Given the description of an element on the screen output the (x, y) to click on. 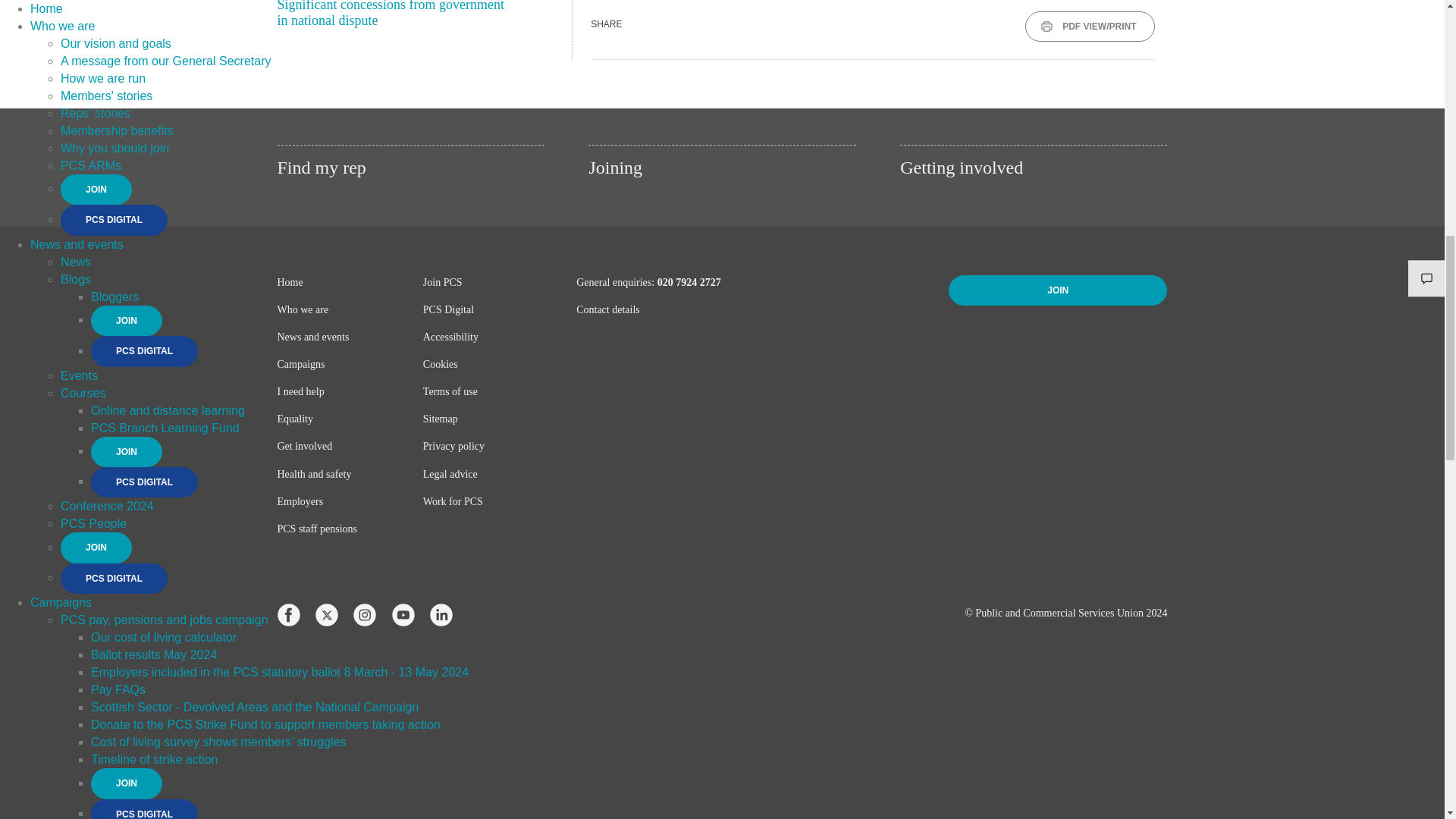
Share to Email (755, 22)
Share to X (686, 22)
Share to Linkedin (721, 22)
Share to Facebook (651, 22)
